Given the description of an element on the screen output the (x, y) to click on. 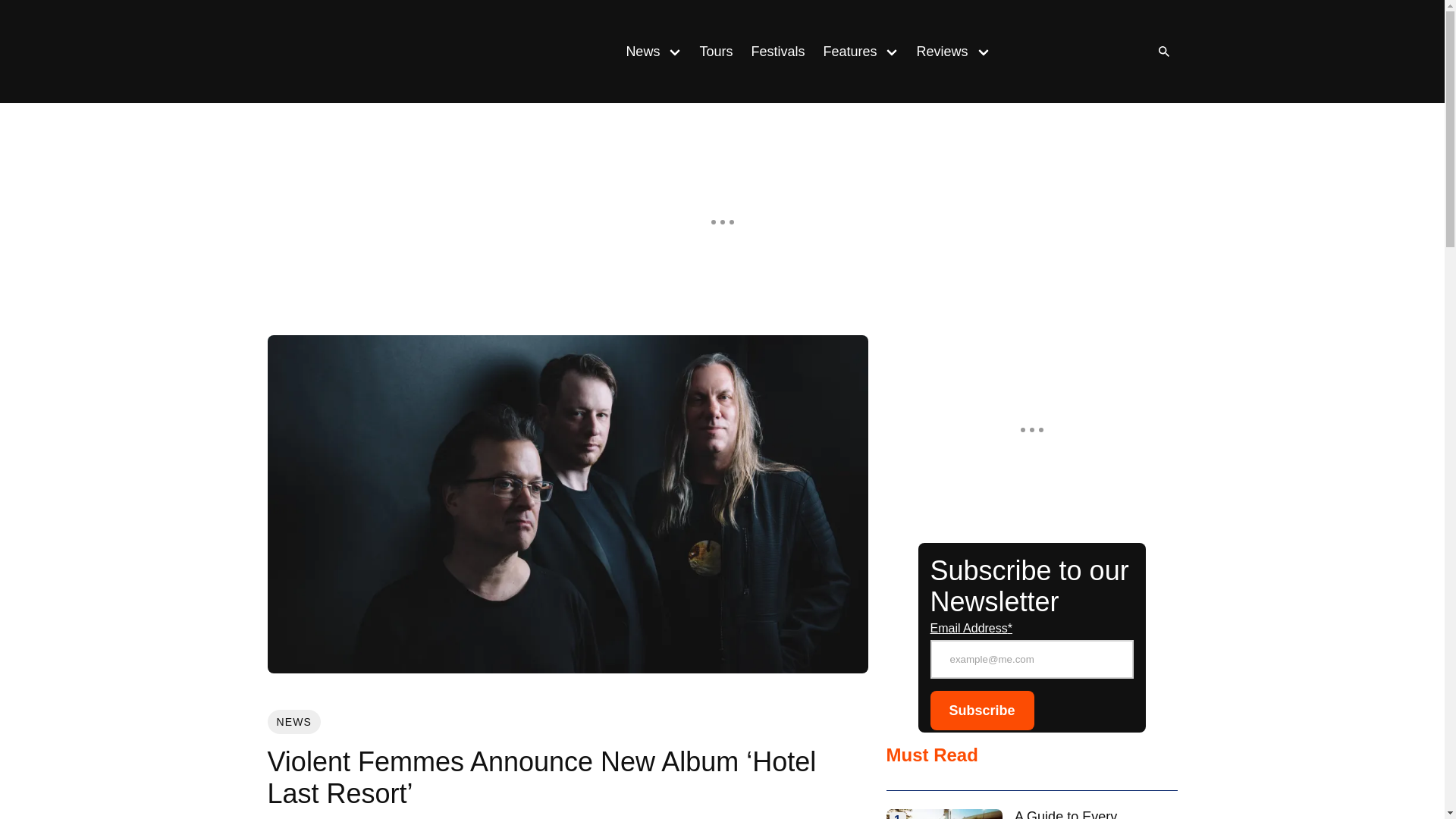
Open menu (674, 51)
Open menu (891, 51)
1 (944, 814)
Open menu (982, 51)
Twitter (1109, 51)
Reviews (937, 51)
Instagram (1048, 51)
NEWS (293, 722)
Facebook (1079, 51)
Subscribe (981, 710)
